Given the description of an element on the screen output the (x, y) to click on. 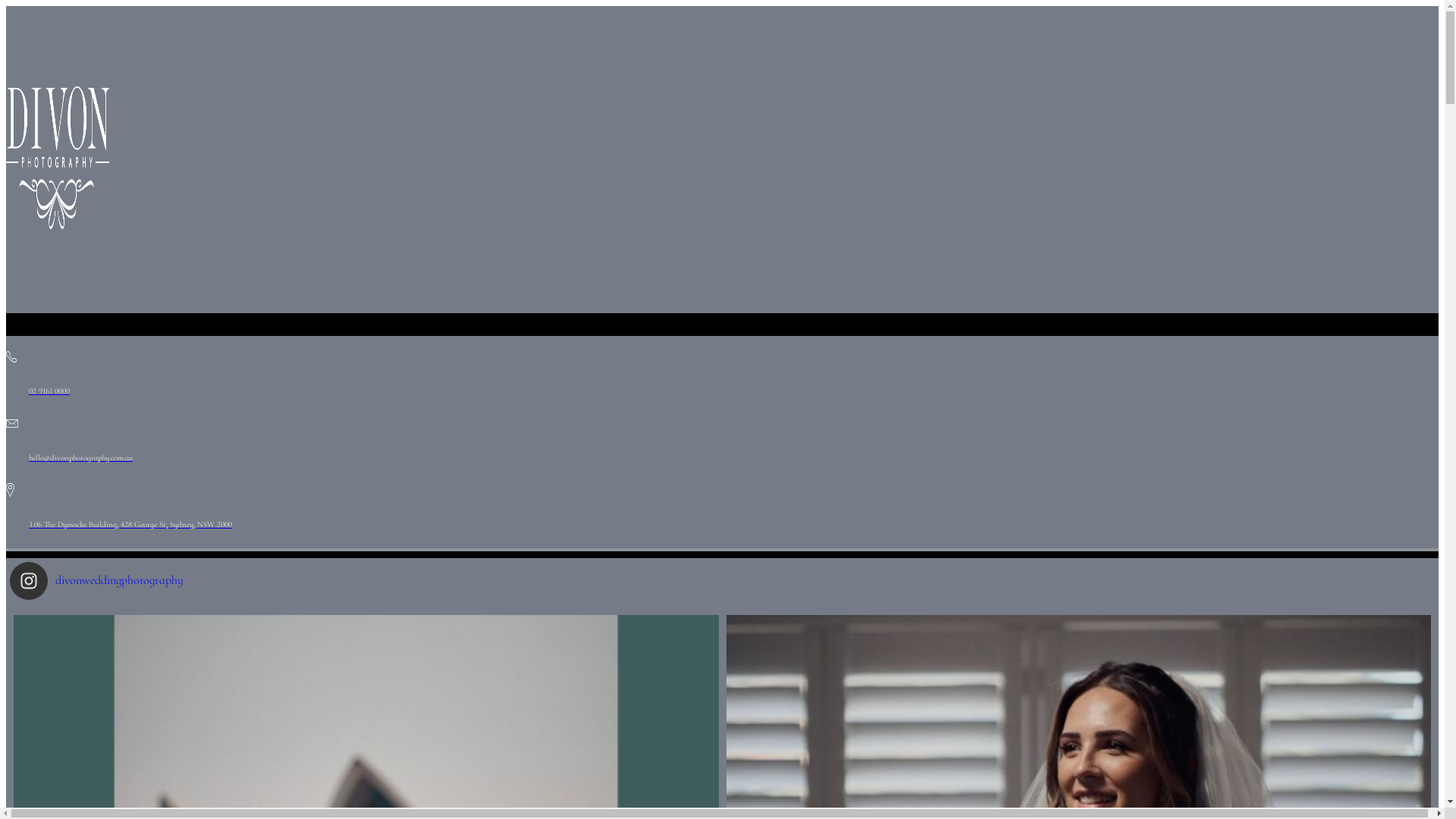
divonweddingphotography Element type: text (725, 580)
hello@divonphotography.com.au Element type: text (722, 438)
02 9161 0000 Element type: text (722, 371)
3.06 The Dymocks Building, 428 George St, Sydney, NSW 2000 Element type: text (722, 505)
